Given the description of an element on the screen output the (x, y) to click on. 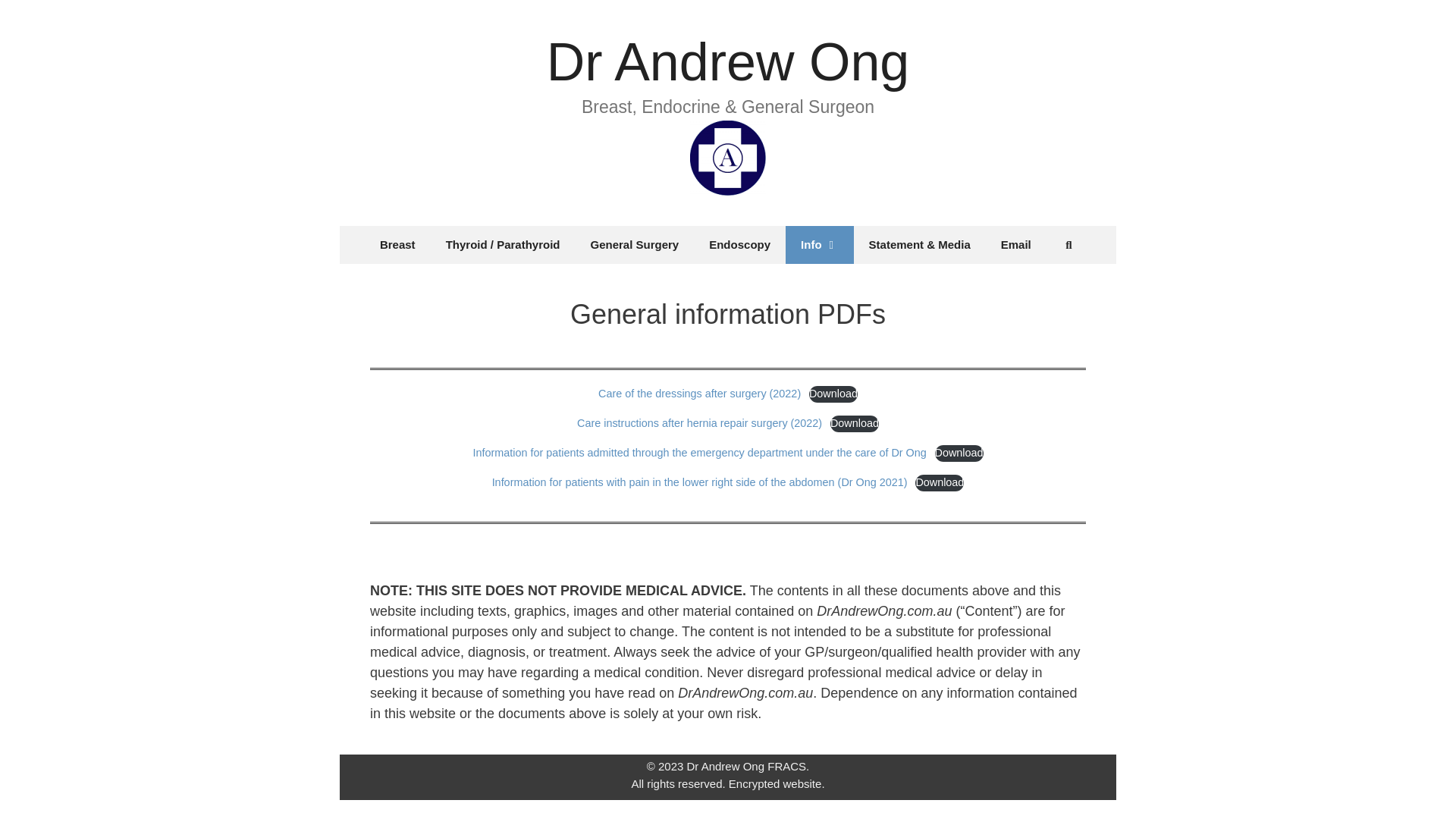
Care of the dressings after surgery (2022) Element type: text (699, 393)
Endoscopy Element type: text (739, 244)
Download Element type: text (959, 453)
Info Element type: text (819, 244)
Email Element type: text (1015, 244)
Download Element type: text (833, 393)
Care instructions after hernia repair surgery (2022) Element type: text (699, 423)
Statement & Media Element type: text (919, 244)
Breast Element type: text (397, 244)
Download Element type: text (939, 482)
Dr Andrew Ong Element type: text (728, 61)
General Surgery Element type: text (633, 244)
Download Element type: text (854, 423)
Thyroid / Parathyroid Element type: text (502, 244)
